Given the description of an element on the screen output the (x, y) to click on. 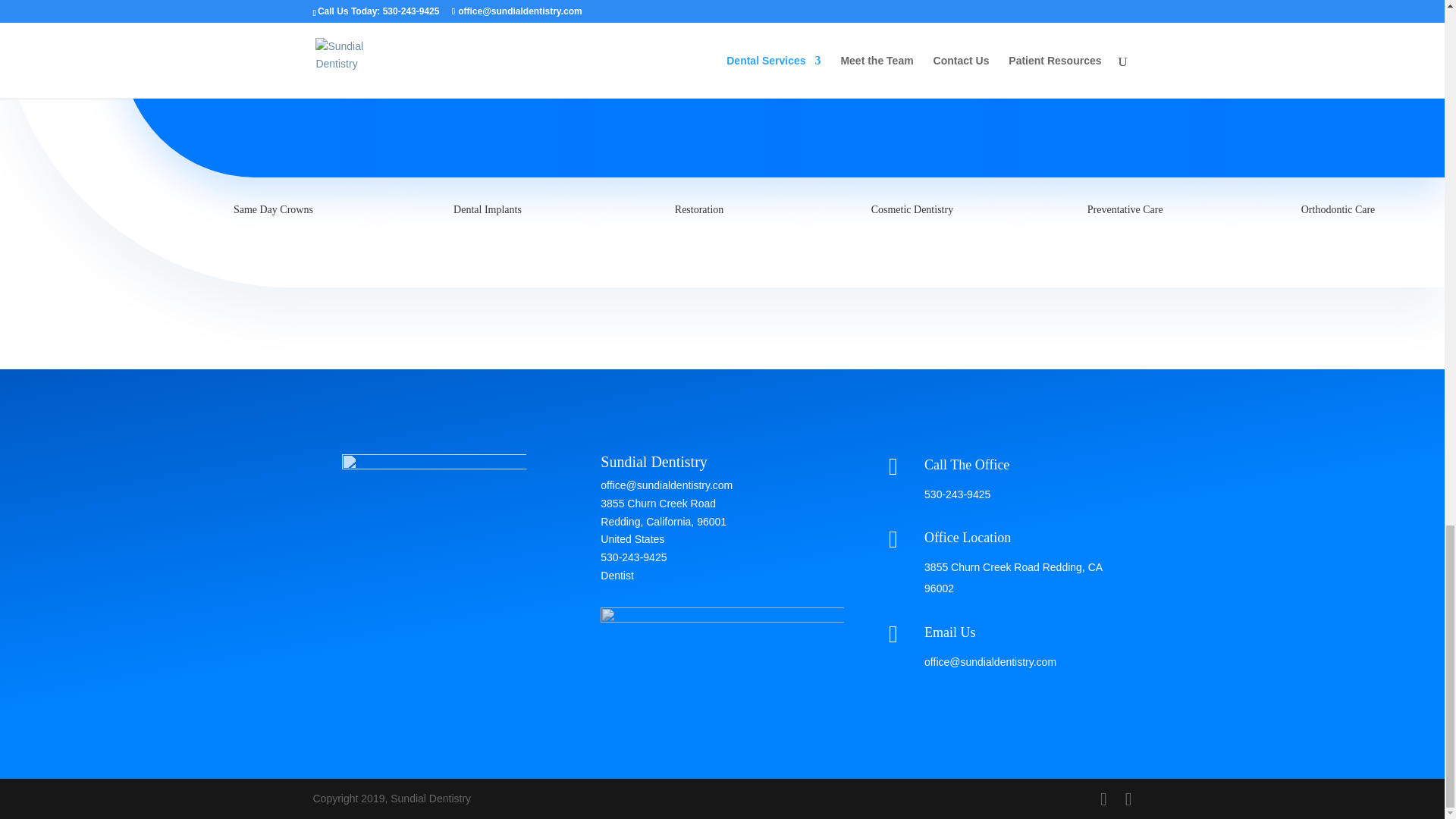
530-243-9425 (957, 494)
Email Sutherland DDS (990, 662)
Sundial Dentistry Logo-01 (433, 500)
